Given the description of an element on the screen output the (x, y) to click on. 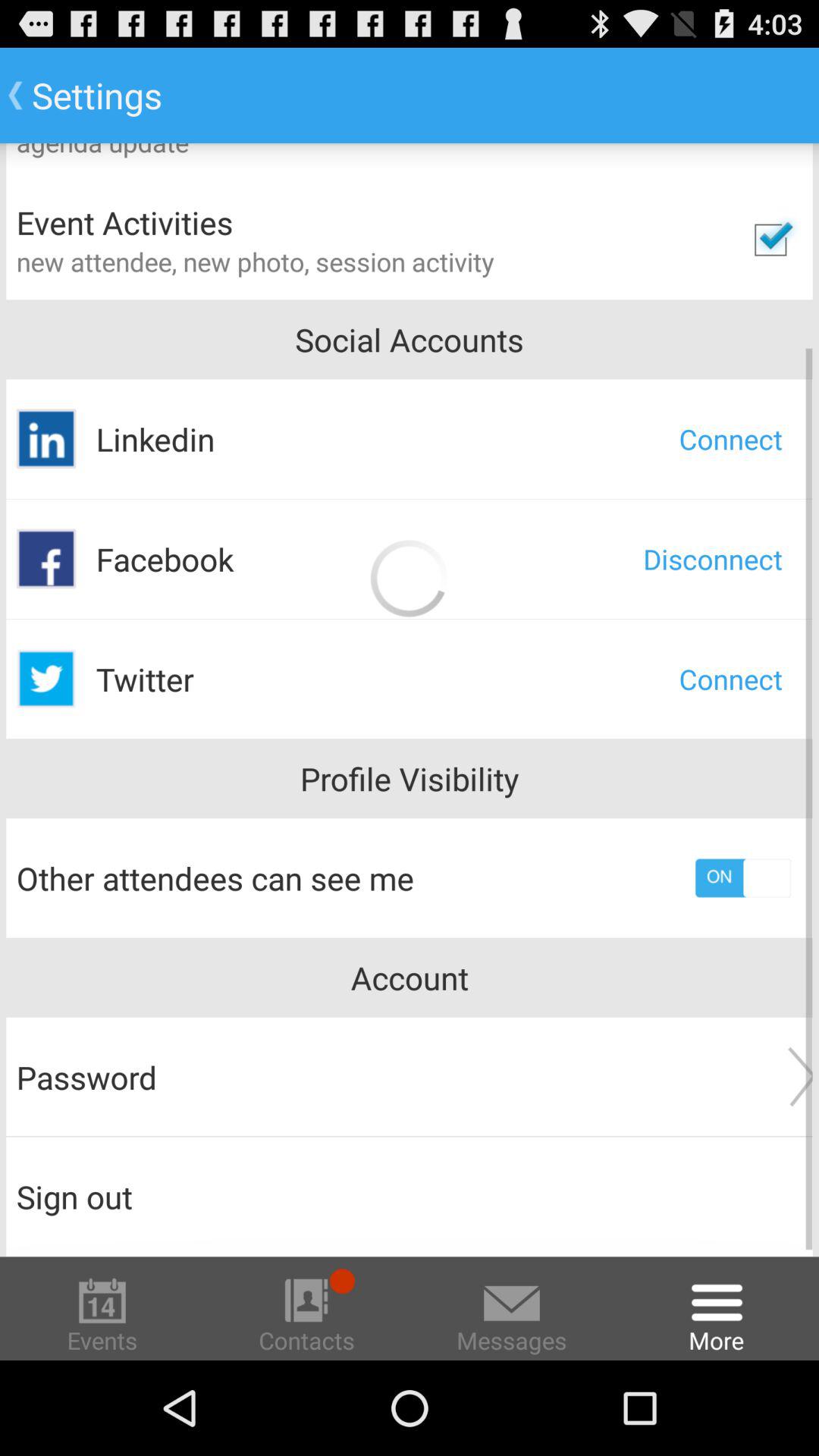
tap the item below the connect icon (712, 558)
